Given the description of an element on the screen output the (x, y) to click on. 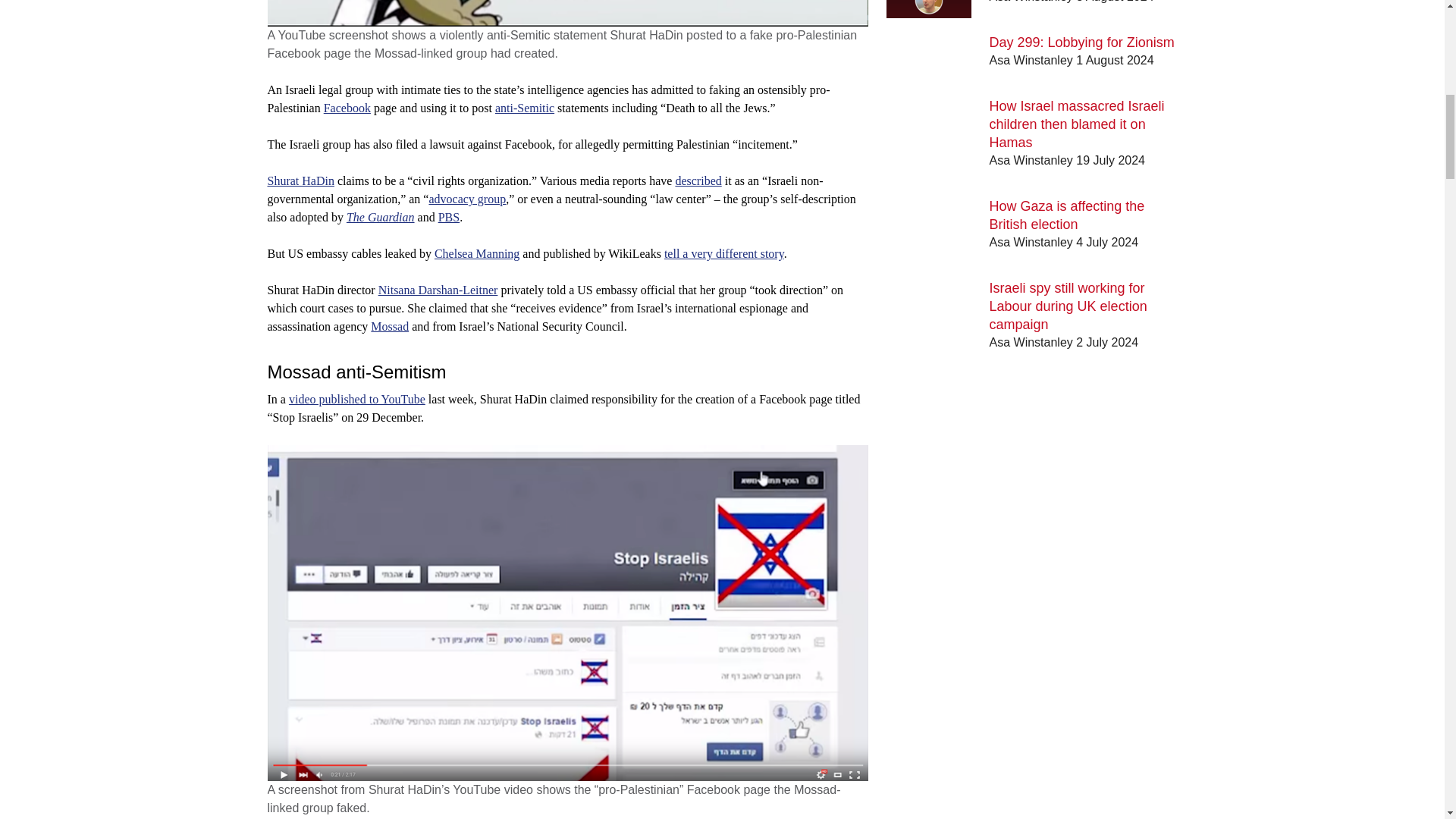
tell a very different story (723, 253)
anti-Semitic (524, 107)
Shurat HaDin (299, 180)
Mossad (390, 326)
The Guardian (380, 216)
video published to YouTube (356, 399)
Nitsana Darshan-Leitner (437, 289)
advocacy group (466, 198)
Facebook (347, 107)
described (697, 180)
